Given the description of an element on the screen output the (x, y) to click on. 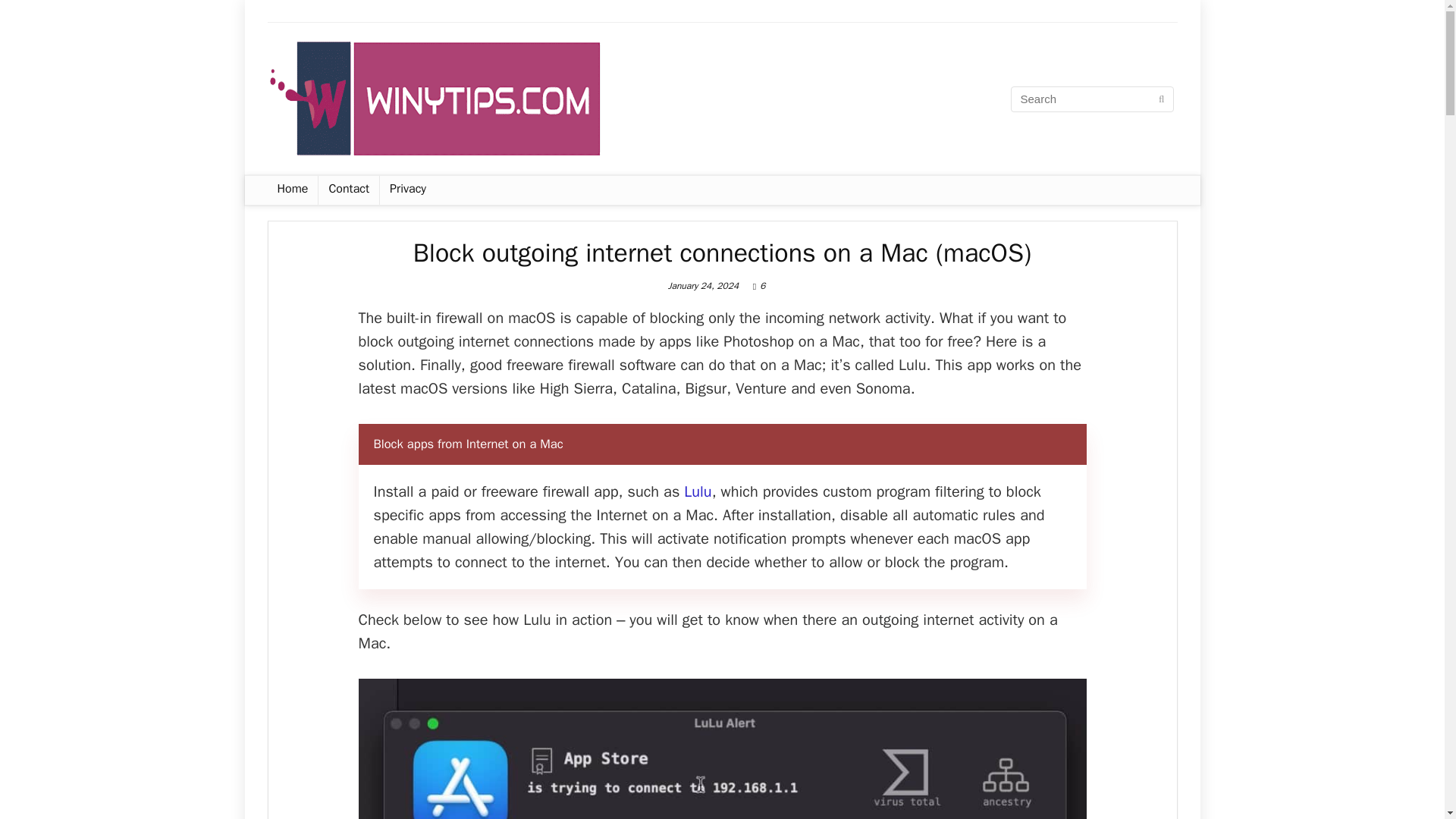
Privacy (407, 190)
Home (291, 190)
Lulu (697, 491)
Contact (348, 190)
